Given the description of an element on the screen output the (x, y) to click on. 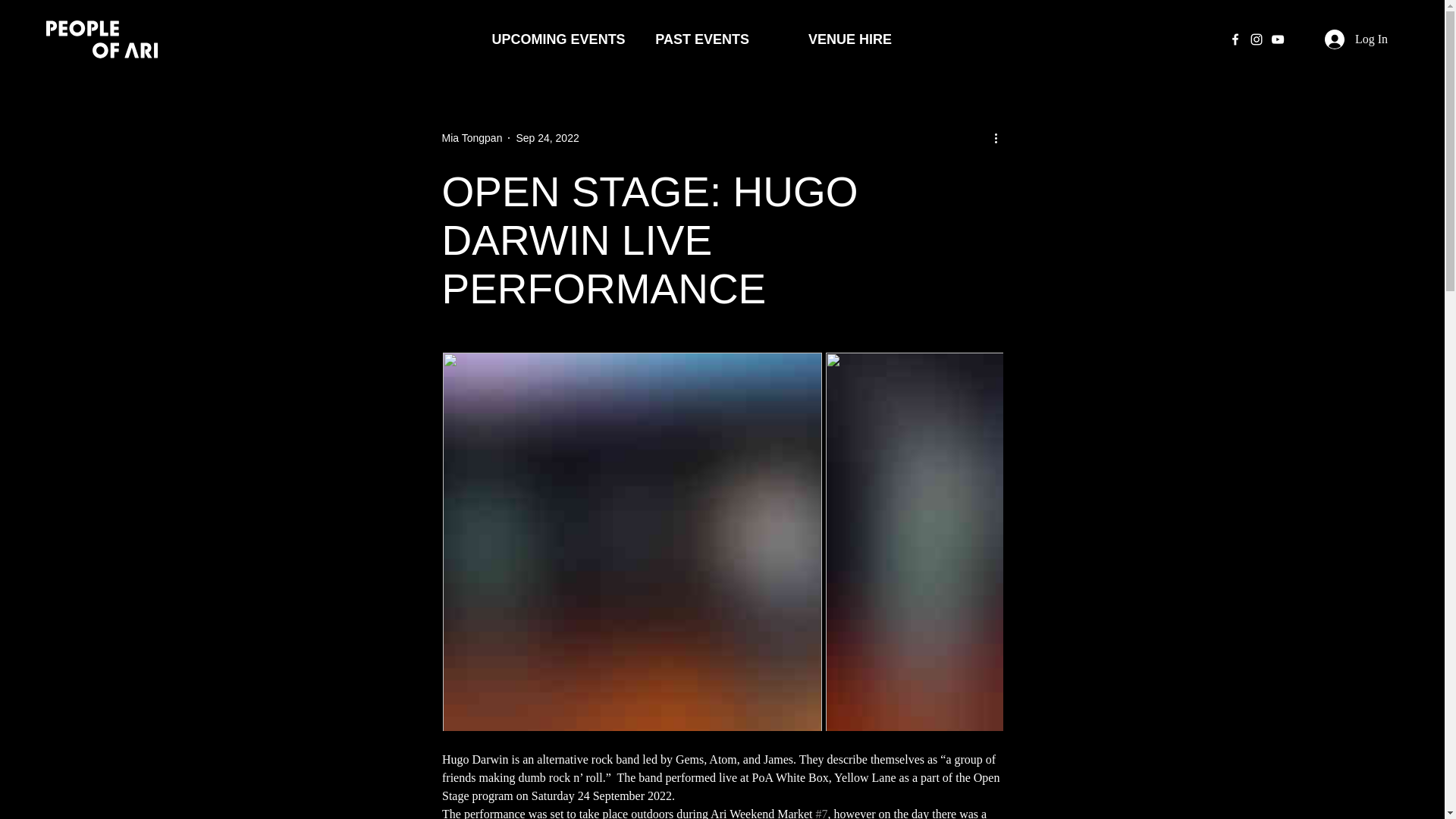
PAST EVENTS (702, 39)
Log In (1355, 39)
Sep 24, 2022 (546, 137)
Mia Tongpan (471, 138)
Mia Tongpan (471, 138)
VENUE HIRE (850, 39)
UPCOMING EVENTS (554, 39)
